Given the description of an element on the screen output the (x, y) to click on. 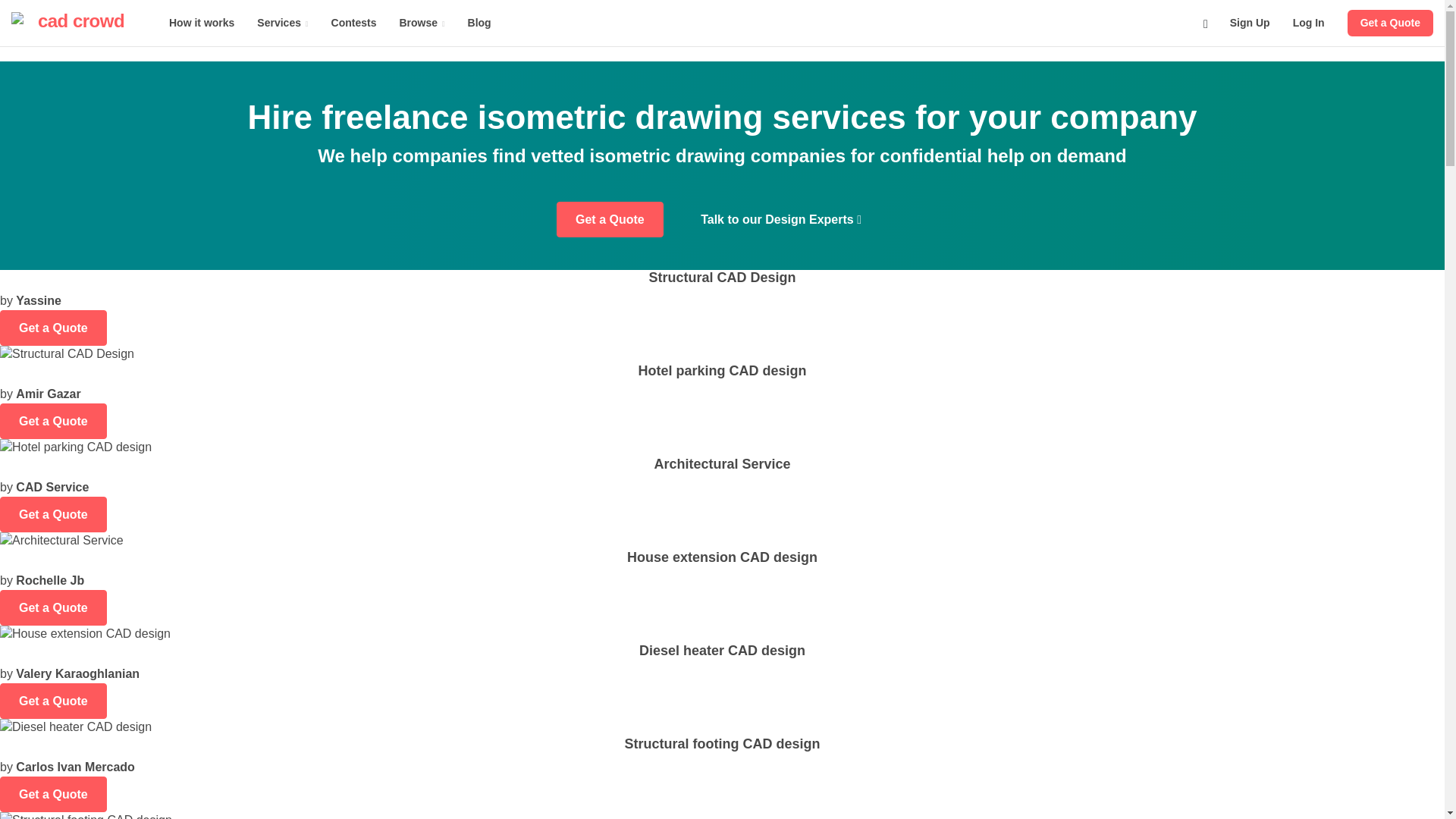
Contests (354, 22)
Services (282, 22)
Browse (421, 22)
Search (1205, 22)
Blog (479, 22)
How it works (201, 22)
